Given the description of an element on the screen output the (x, y) to click on. 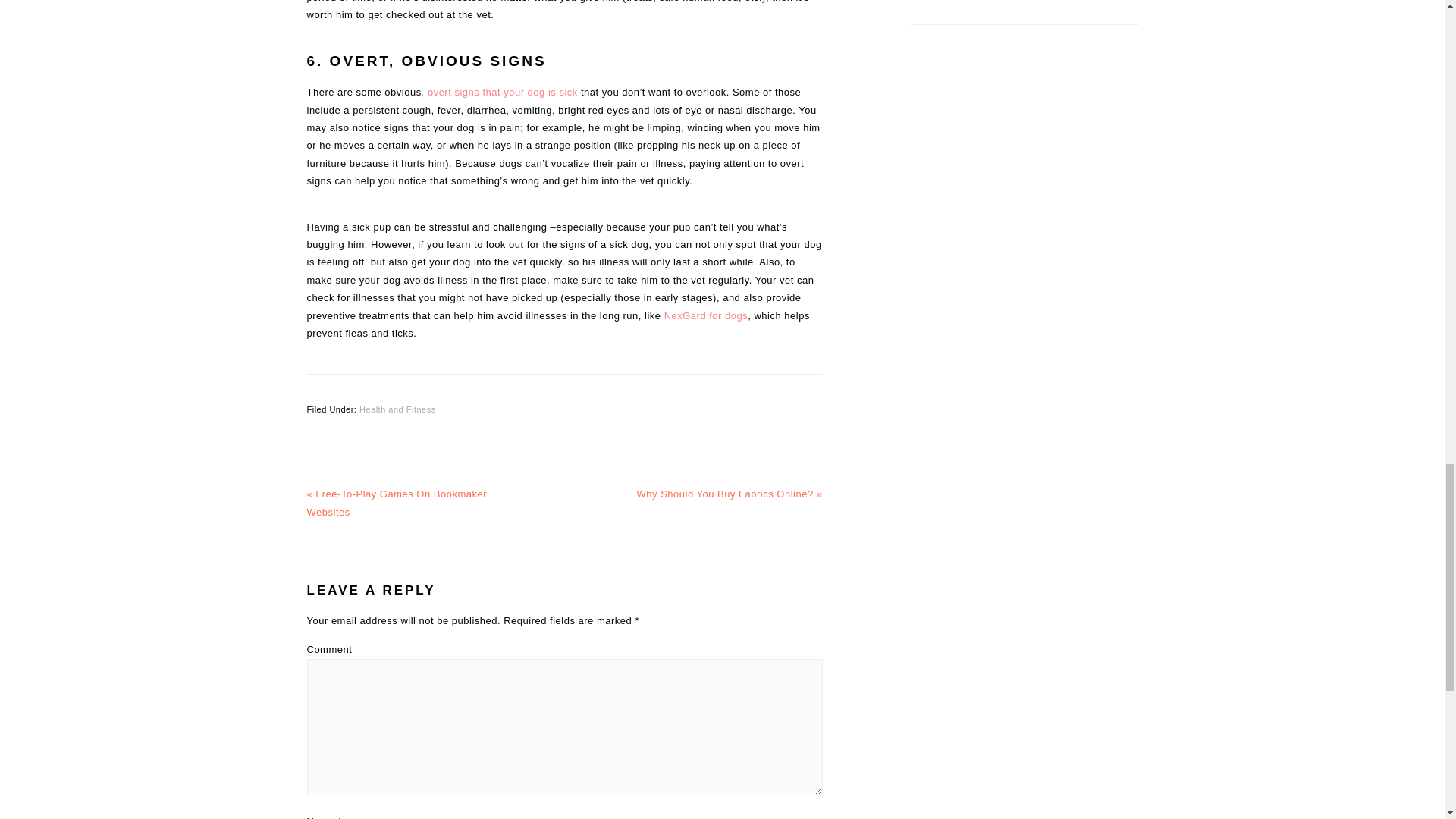
NexGard for dogs (705, 315)
, overt signs that your dog is sick (500, 91)
Health and Fitness (397, 409)
